Given the description of an element on the screen output the (x, y) to click on. 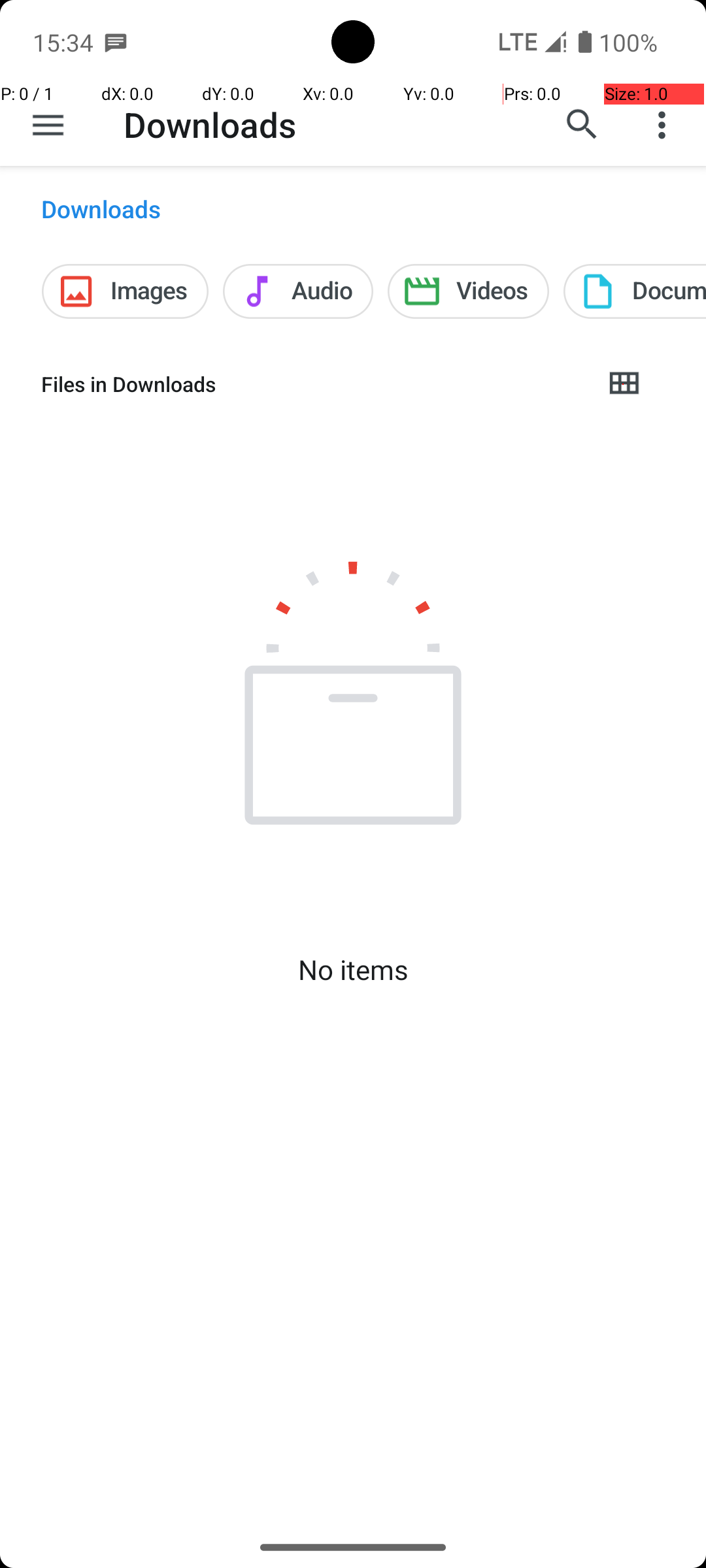
SMS Messenger notification: +15505050843 Element type: android.widget.ImageView (115, 41)
